Given the description of an element on the screen output the (x, y) to click on. 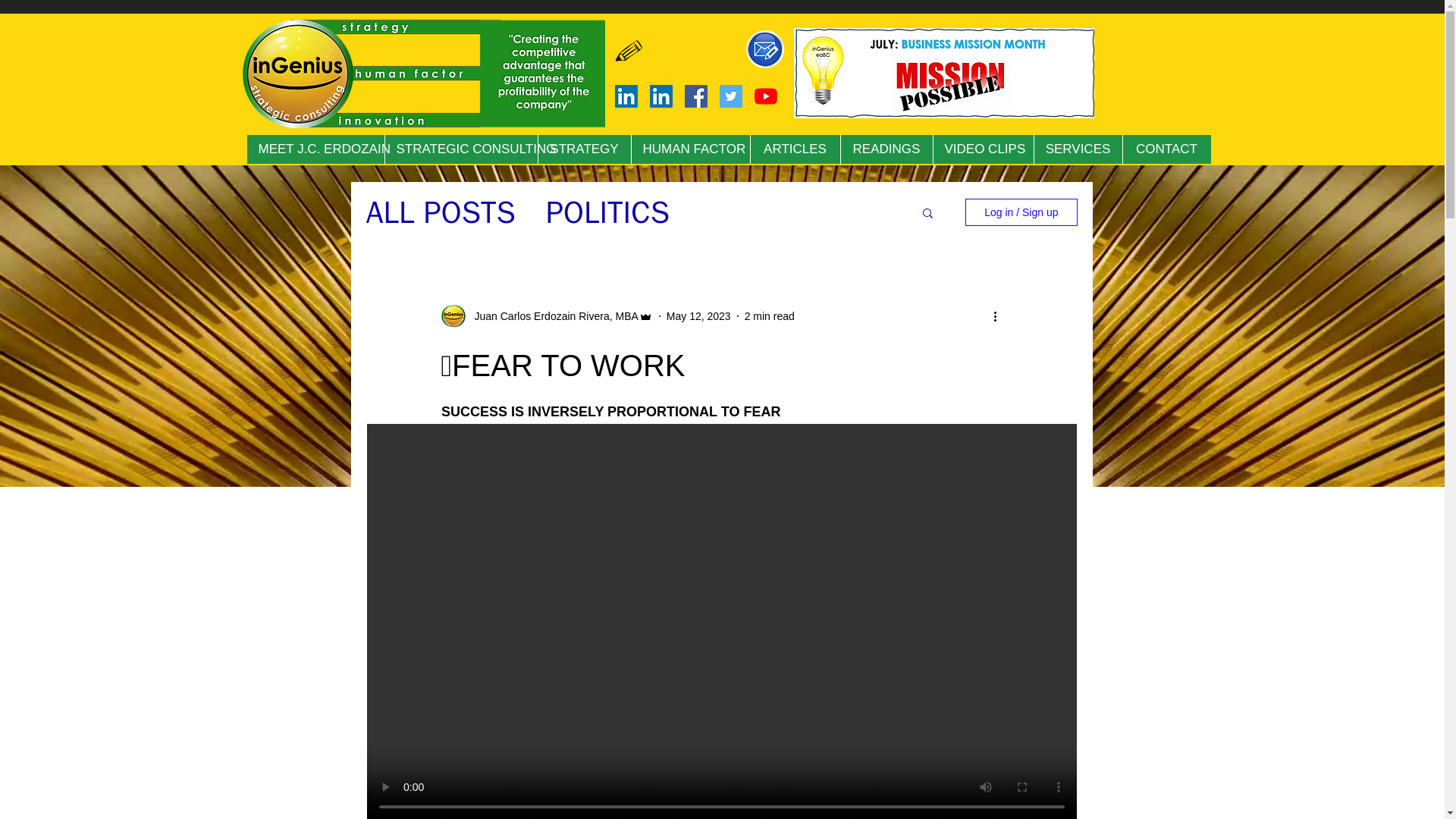
POLITICS (607, 211)
SERVICES (1076, 149)
MEET J.C. ERDOZAIN (315, 149)
May 12, 2023 (698, 315)
ALL POSTS (440, 211)
2 min read (769, 315)
READINGS (886, 149)
Hand drawn pencil (628, 51)
CONTACT (1166, 149)
HUMAN FACTOR (689, 149)
INGENIUS LOGO MATRIX WHITE BACKGROUND.png (417, 73)
Juan Carlos Erdozain Rivera, MBA (546, 315)
Juan Carlos Erdozain Rivera, MBA (552, 315)
STRATEGY (583, 149)
ARTICLES (794, 149)
